Given the description of an element on the screen output the (x, y) to click on. 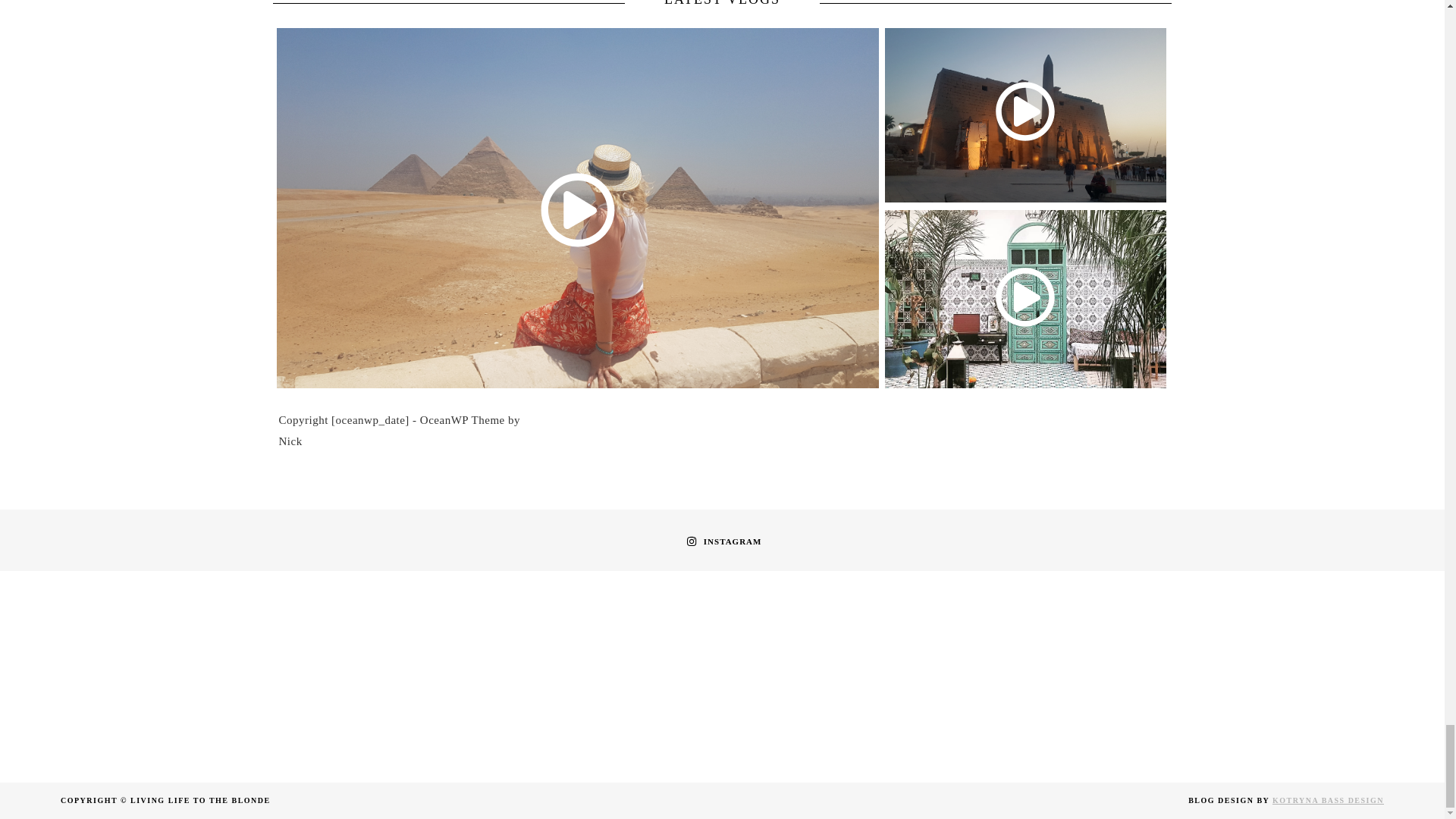
KOTRYNA BASS DESIGN (1328, 800)
LATEST VLOGS (721, 5)
INSTAGRAM (721, 540)
